Given the description of an element on the screen output the (x, y) to click on. 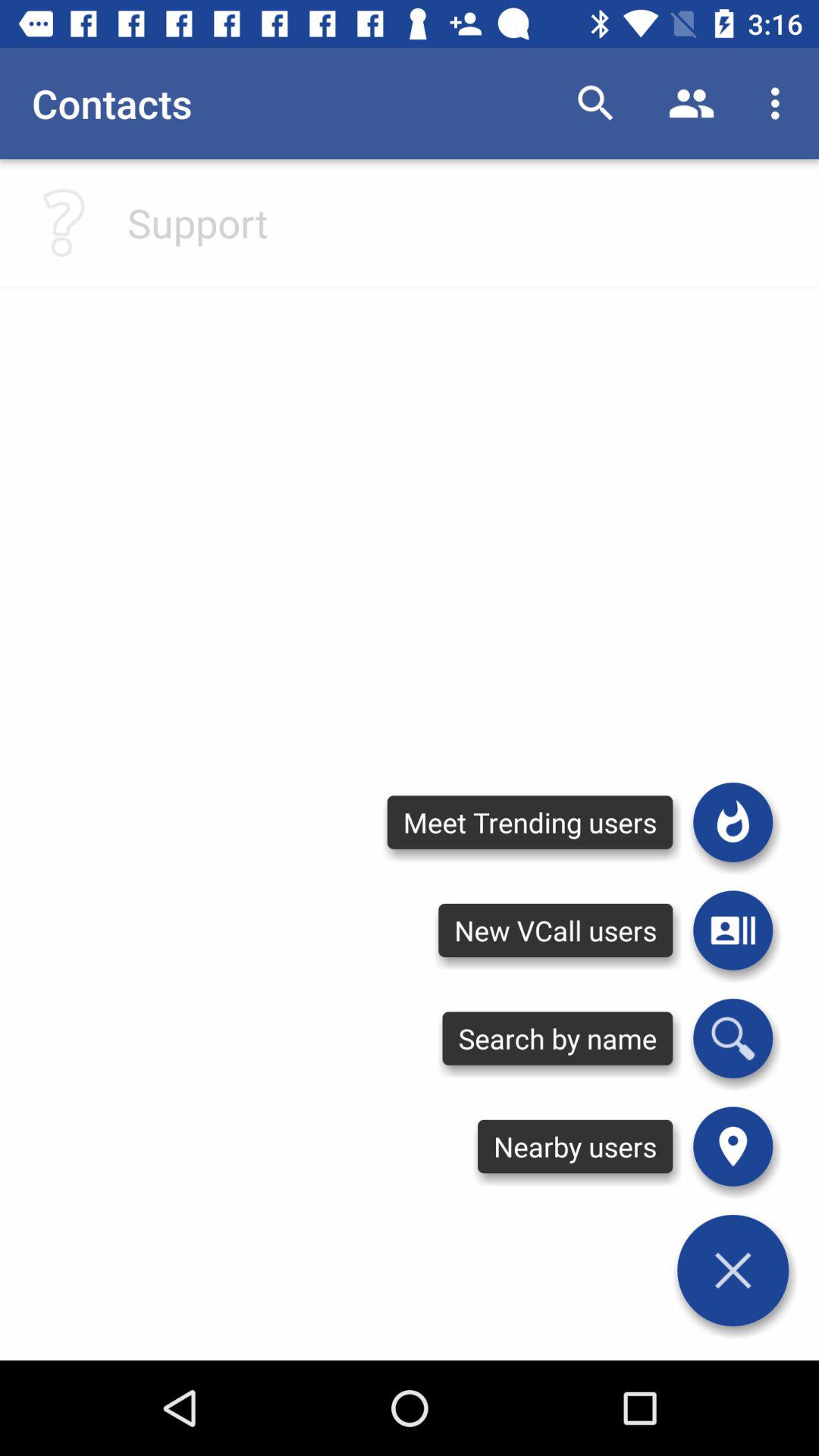
turn off icon to the right of new vcall users item (733, 1038)
